Given the description of an element on the screen output the (x, y) to click on. 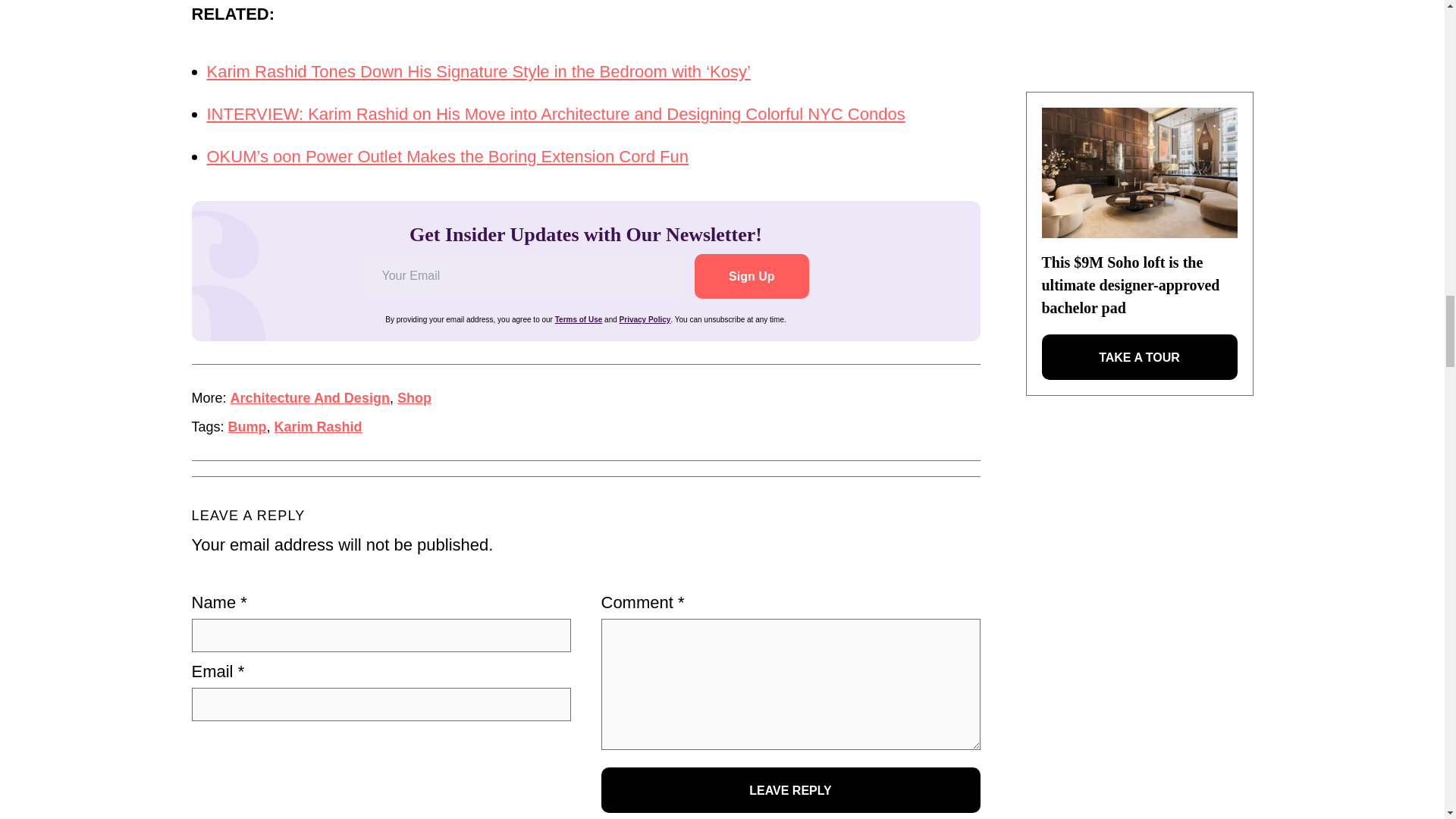
Sign Up (751, 275)
Privacy Policy (645, 319)
Shop (413, 397)
Sign Up (751, 275)
Terms of Use (578, 319)
Leave Reply (789, 790)
Architecture And Design (310, 397)
